Given the description of an element on the screen output the (x, y) to click on. 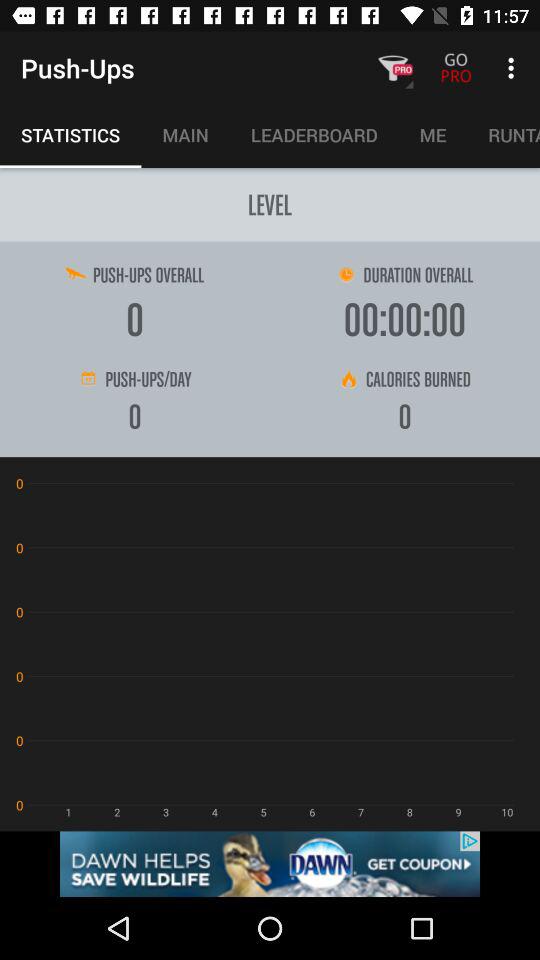
advert banner (270, 864)
